Given the description of an element on the screen output the (x, y) to click on. 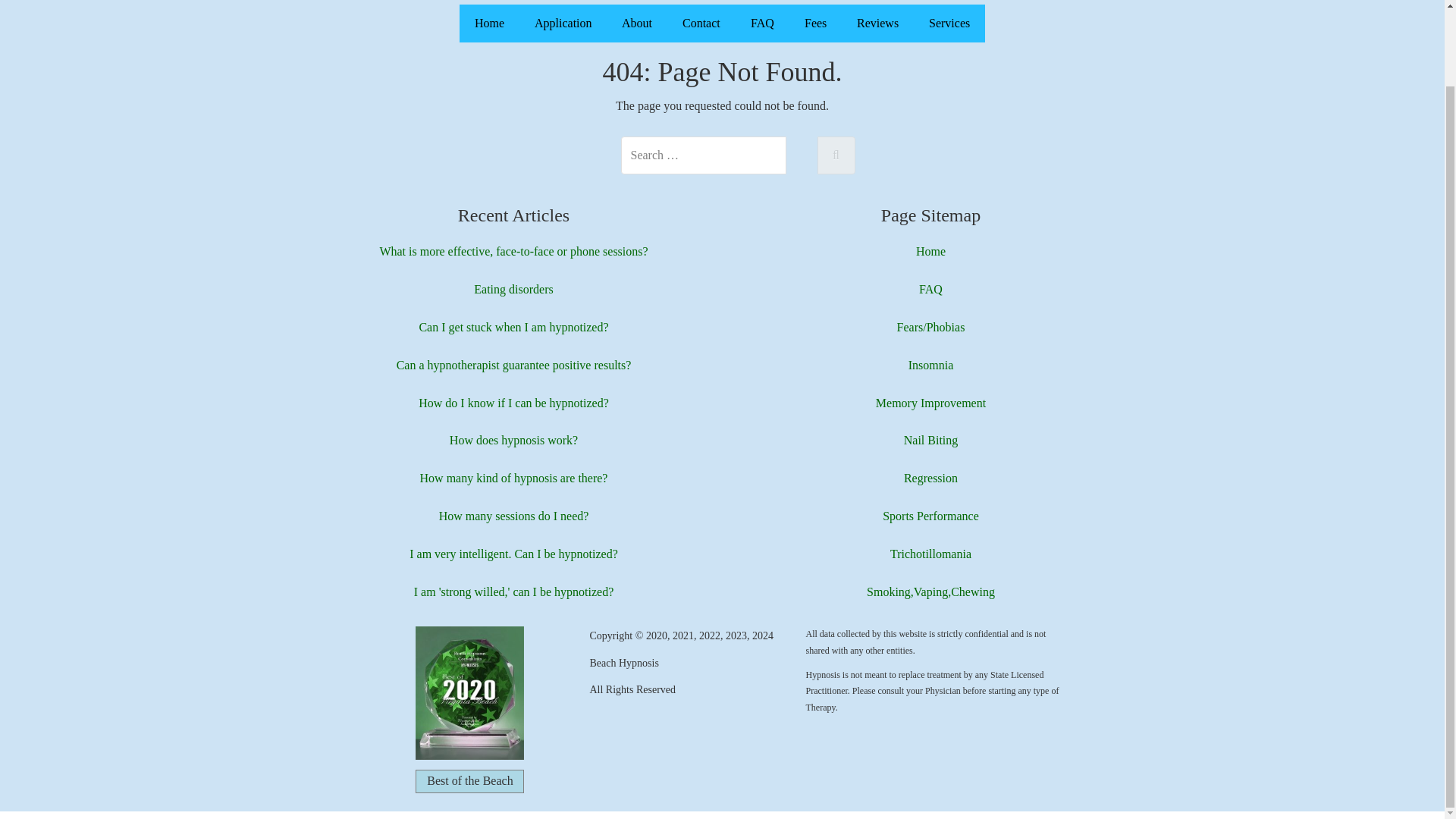
Home (489, 23)
Eating disorders (513, 288)
Insomnia (930, 364)
Fees (815, 23)
Sports Performance (930, 515)
Home (929, 250)
About (636, 23)
Regression (931, 477)
Nail Biting (931, 440)
What is more effective, face-to-face or phone sessions? (512, 250)
How many sessions do I need? (514, 515)
How many kind of hypnosis are there? (514, 477)
Services (949, 23)
Application (563, 23)
